Given the description of an element on the screen output the (x, y) to click on. 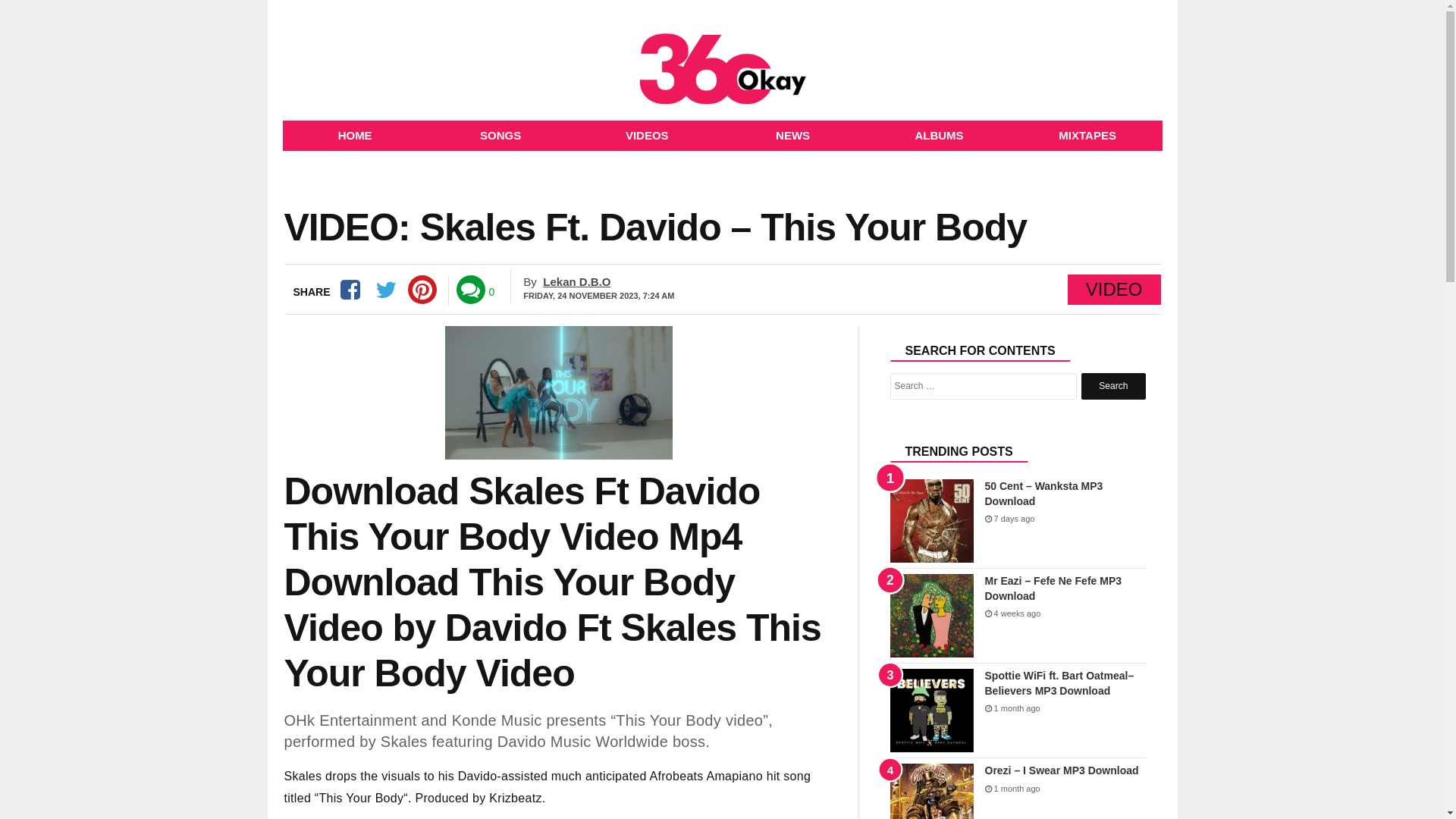
MIXTAPES Element type: text (1087, 135)
Twitter Element type: hover (385, 289)
ALBUMS Element type: text (939, 135)
Facebook Element type: hover (349, 289)
NEWS Element type: text (792, 135)
0 Element type: text (492, 292)
HOME Element type: text (354, 135)
Search Element type: text (1113, 386)
VIDEOS Element type: text (647, 135)
pinterest Element type: hover (421, 289)
Comments Element type: hover (470, 289)
SONGS Element type: text (500, 135)
Lekan D.B.O Element type: text (576, 281)
